Given the description of an element on the screen output the (x, y) to click on. 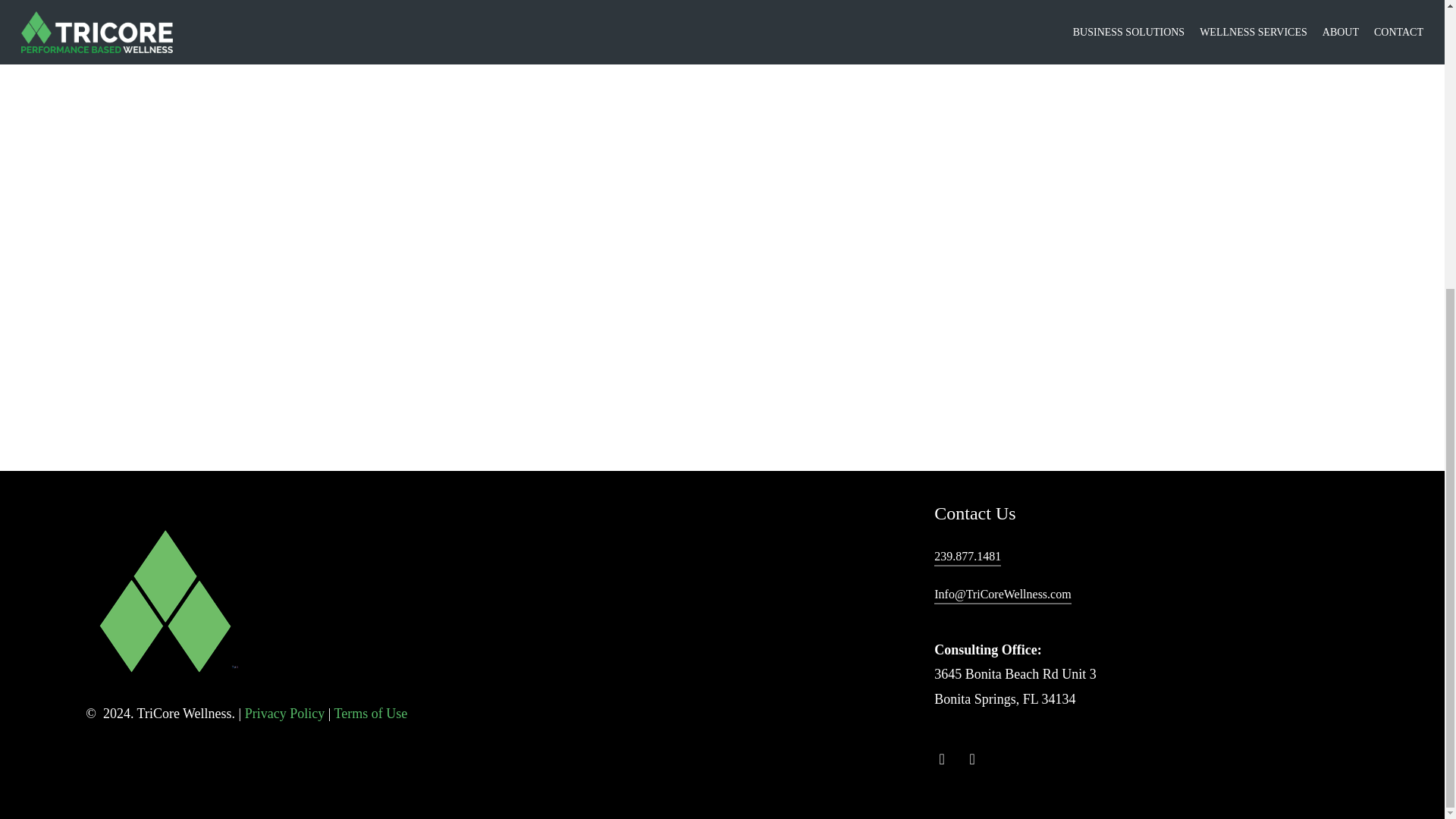
Terms of Use (370, 713)
239.877.1481 (967, 556)
Privacy Policy (284, 713)
